Given the description of an element on the screen output the (x, y) to click on. 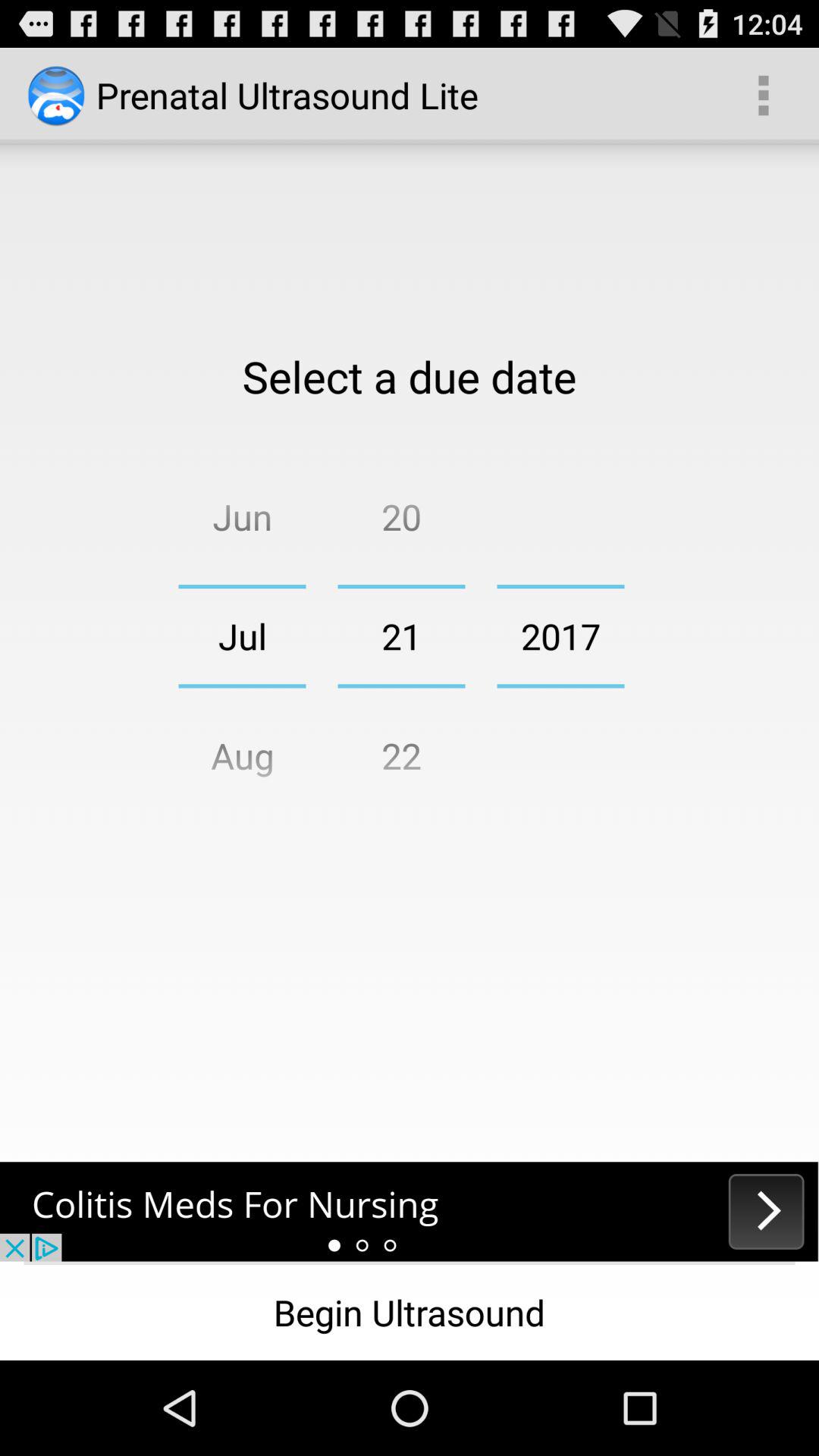
open advertisement (409, 1211)
